Given the description of an element on the screen output the (x, y) to click on. 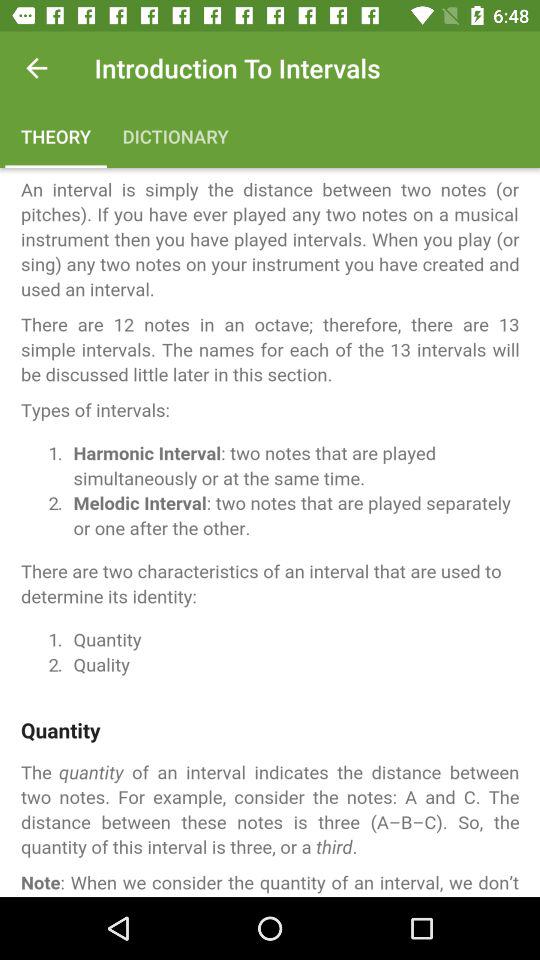
article area (270, 532)
